Given the description of an element on the screen output the (x, y) to click on. 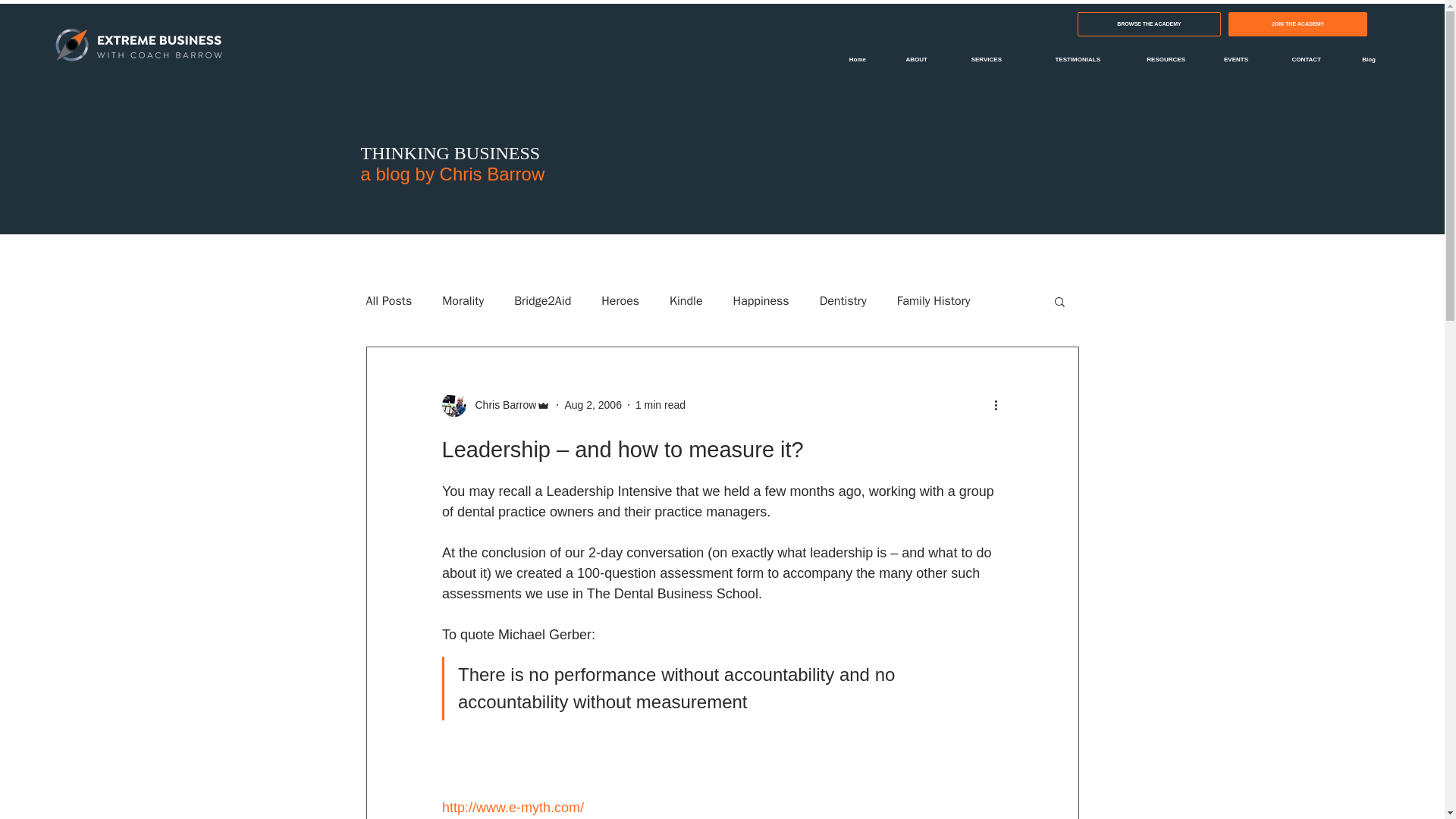
1 min read (659, 404)
Dentistry (842, 300)
Happiness (761, 300)
Heroes (620, 300)
EVENTS (1227, 59)
TESTIMONIALS (1062, 59)
All Posts (388, 300)
BROWSE THE ACADEMY (1149, 24)
Kindle (685, 300)
RESOURCES (1154, 59)
Morality (462, 300)
Aug 2, 2006 (592, 404)
JOIN THE ACADEMY (1297, 24)
ABOUT (908, 59)
CONTACT (1295, 59)
